Given the description of an element on the screen output the (x, y) to click on. 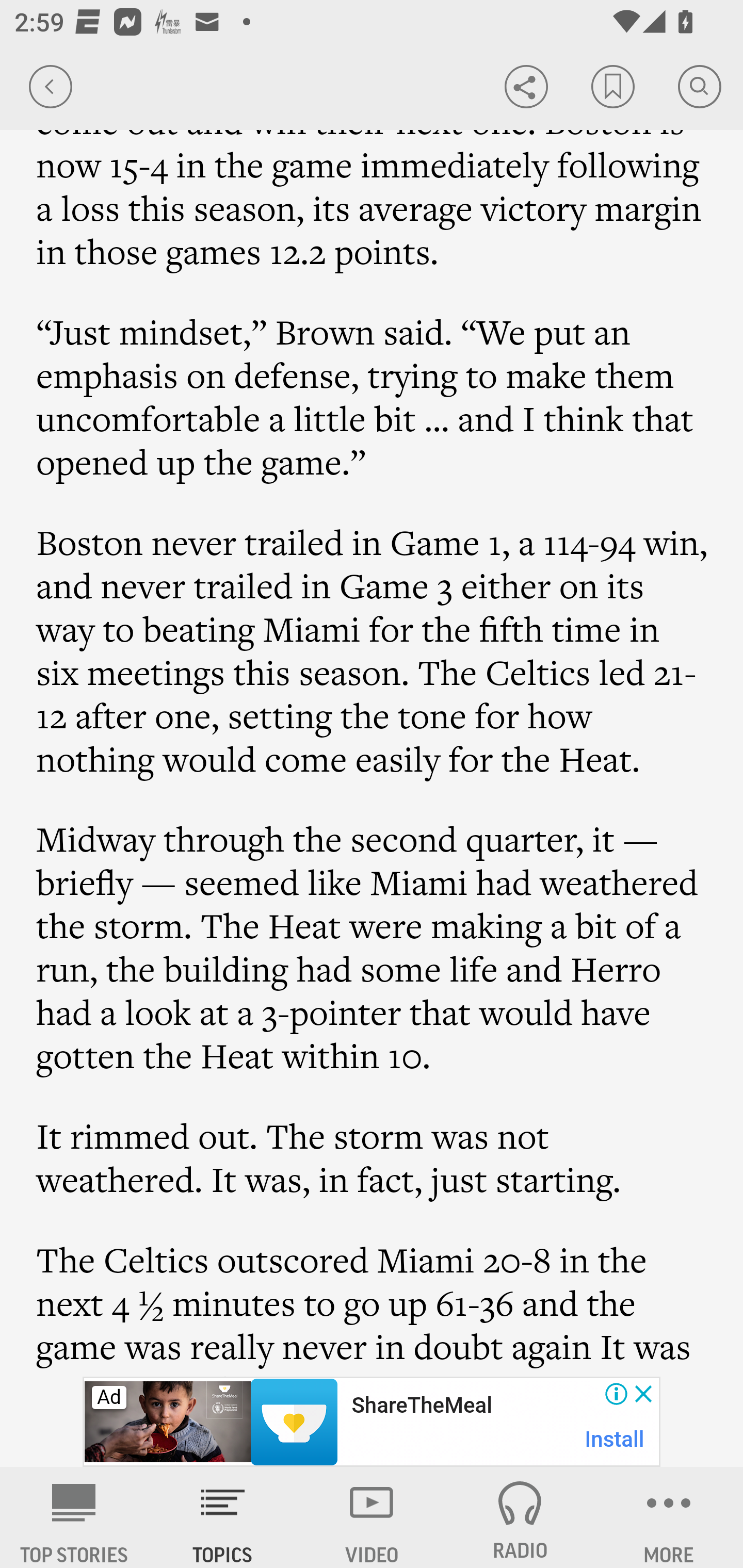
ShareTheMeal (420, 1405)
Install (614, 1438)
AP News TOP STORIES (74, 1517)
TOPICS (222, 1517)
VIDEO (371, 1517)
RADIO (519, 1517)
MORE (668, 1517)
